Given the description of an element on the screen output the (x, y) to click on. 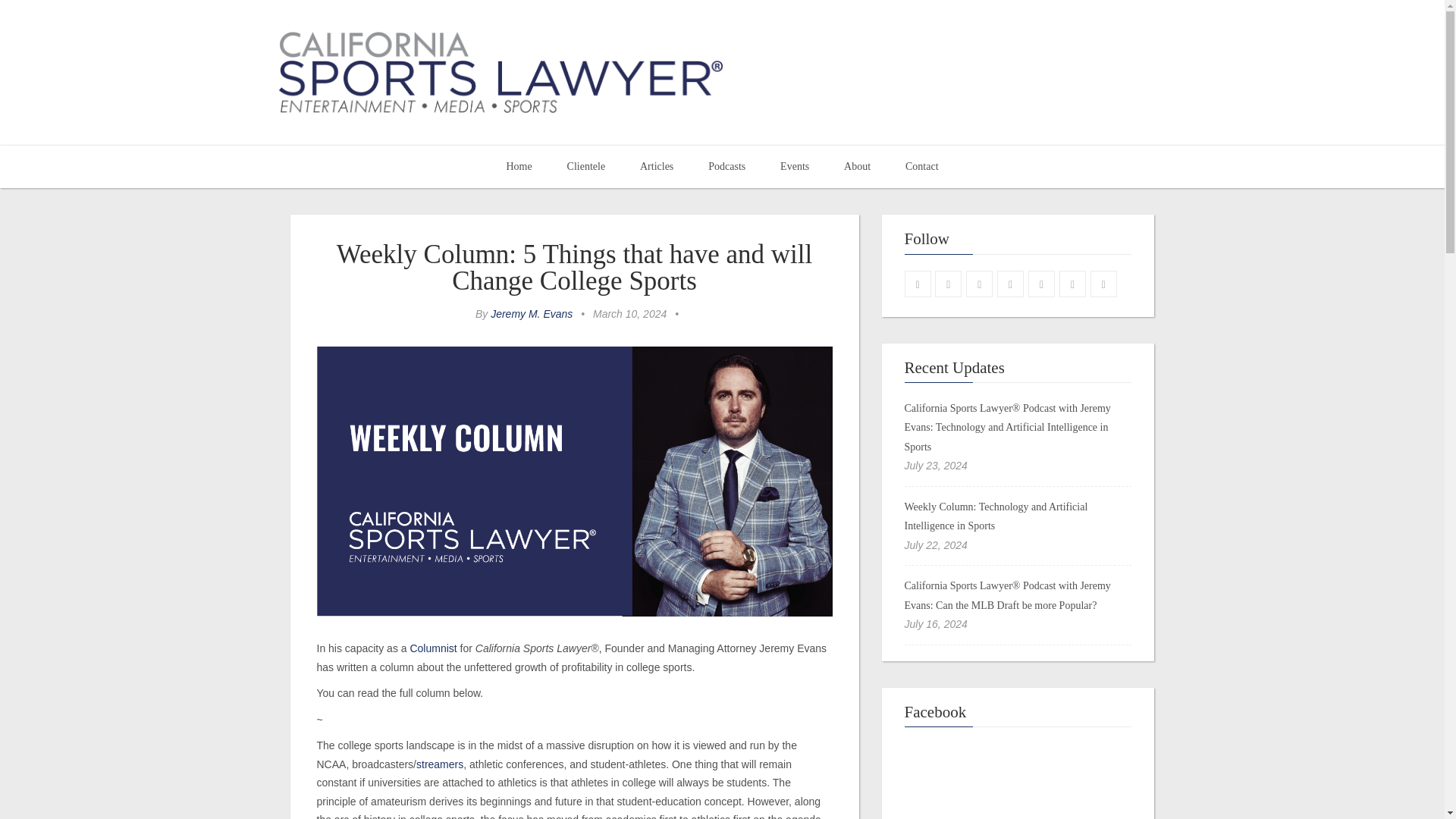
streamers (439, 764)
Columnist (433, 648)
Clientele (586, 166)
Podcasts (727, 166)
Events (794, 166)
Home (518, 166)
Articles (656, 166)
Contact (922, 166)
Jeremy M. Evans (531, 313)
About (857, 166)
